Given the description of an element on the screen output the (x, y) to click on. 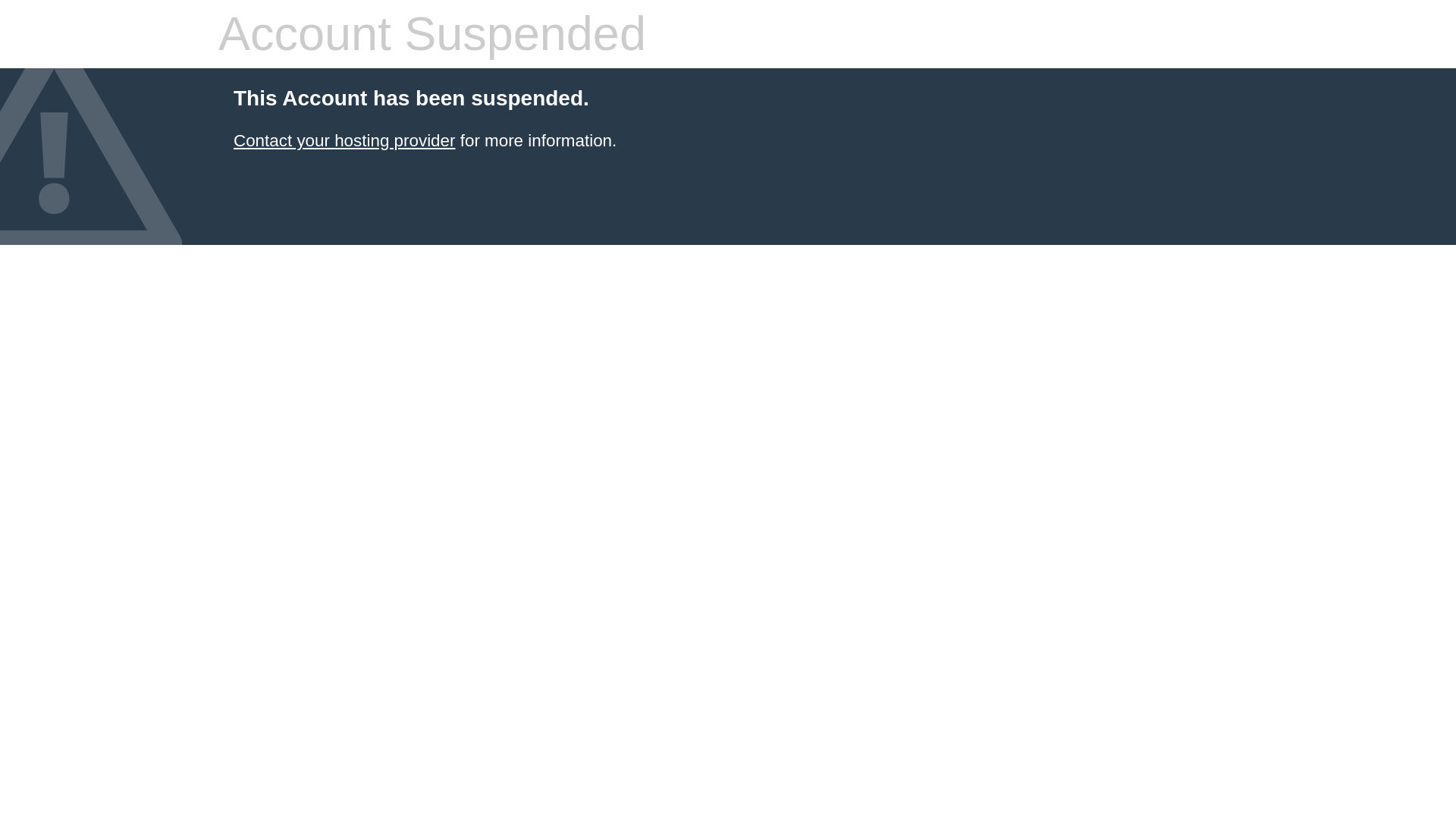
Contact your hosting provider (343, 140)
